Given the description of an element on the screen output the (x, y) to click on. 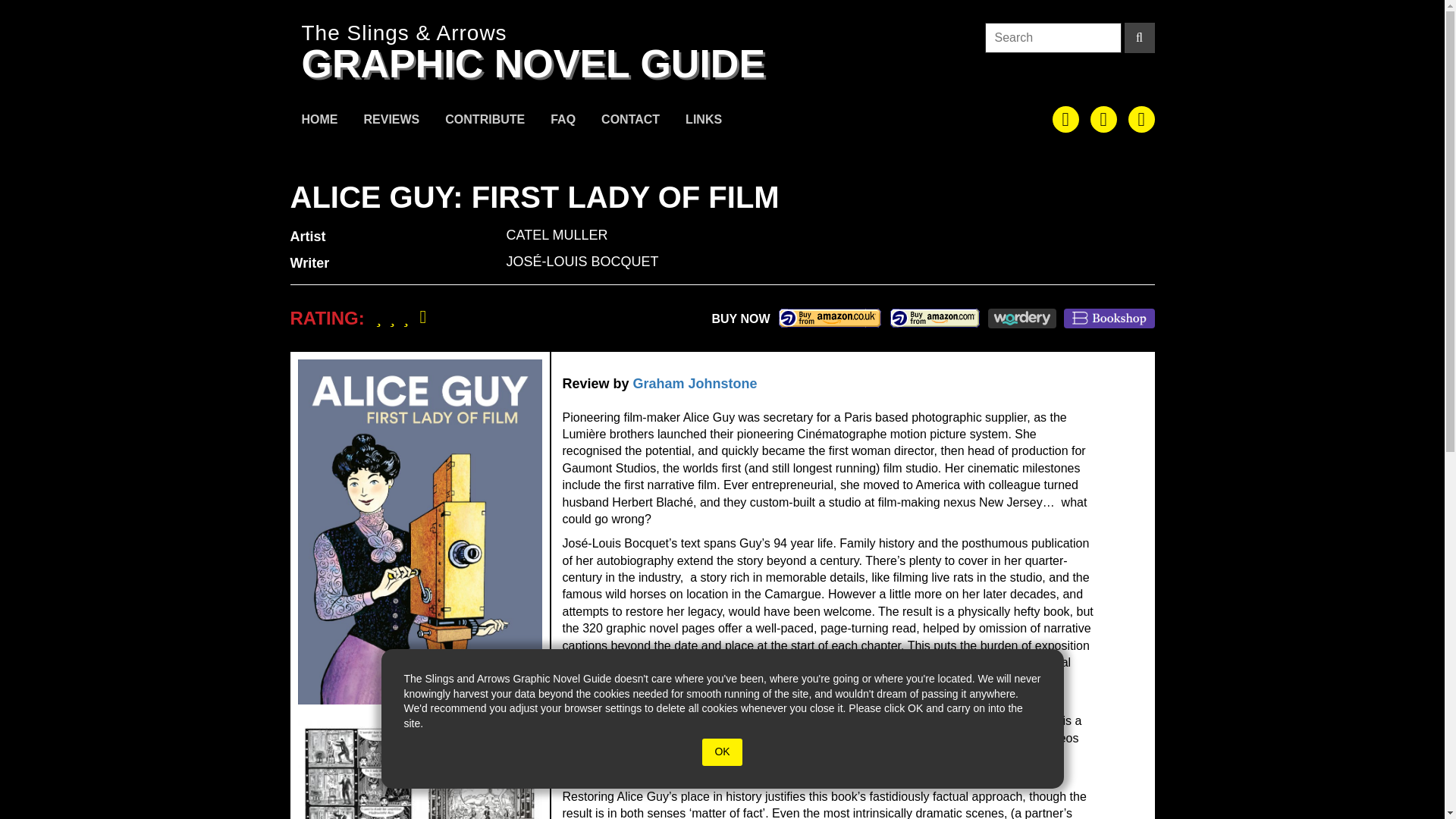
Posts by Graham Johnstone (695, 383)
Graham Johnstone (695, 383)
REVIEWS (391, 121)
SAMPLE IMAGE  (419, 769)
HOME (319, 121)
LINKS (703, 121)
FAQ (562, 121)
CONTRIBUTE (484, 121)
OK (721, 751)
CONTACT (630, 121)
CATEL MULLER (557, 234)
